Given the description of an element on the screen output the (x, y) to click on. 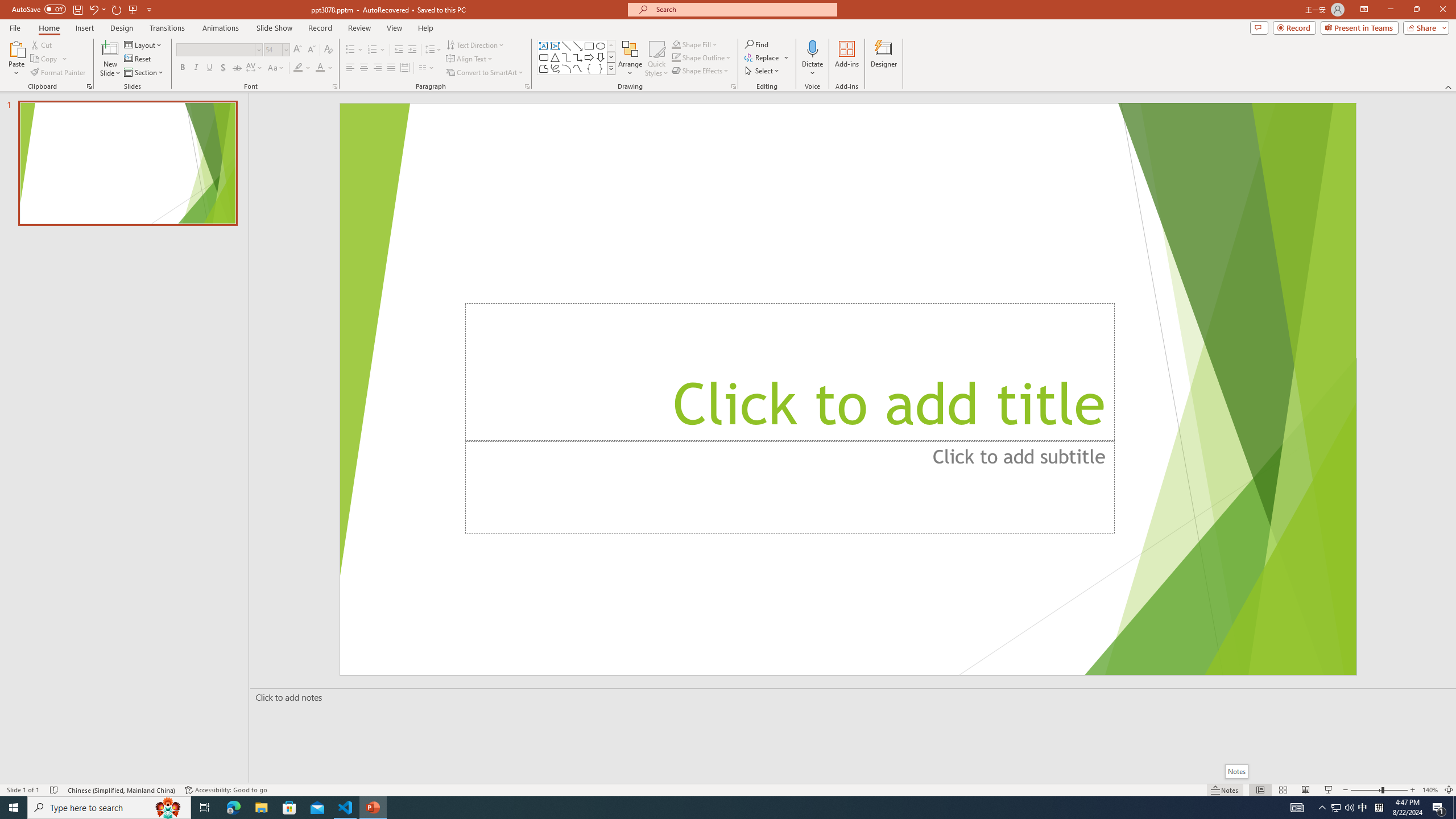
Notes (1235, 771)
